Given the description of an element on the screen output the (x, y) to click on. 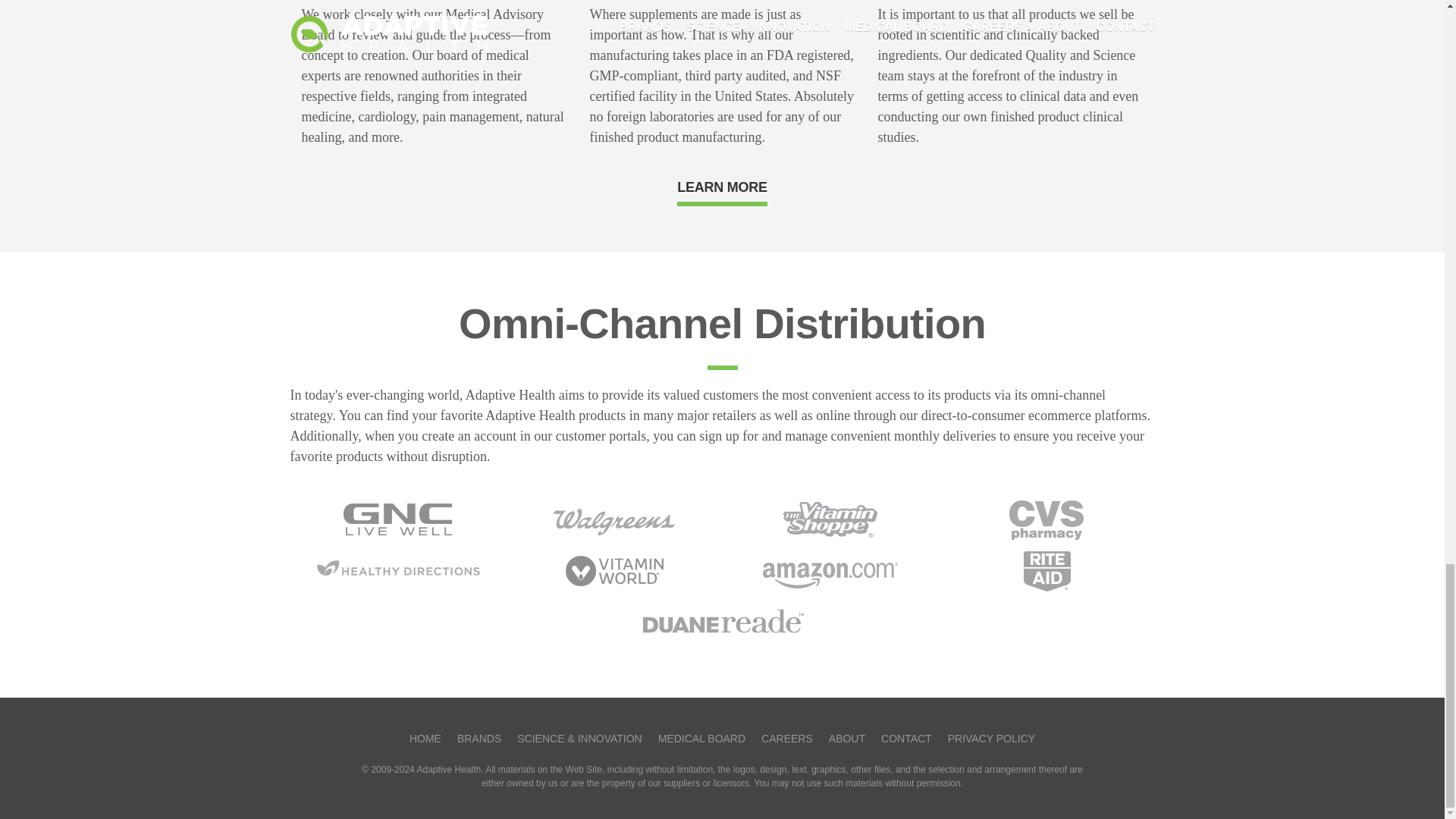
CONTACT (905, 738)
PRIVACY POLICY (991, 738)
LEARN MORE (722, 186)
LEARN MORE (722, 184)
MEDICAL BOARD (701, 738)
BRANDS (478, 738)
ABOUT (846, 738)
CAREERS (786, 738)
HOME (425, 738)
